Given the description of an element on the screen output the (x, y) to click on. 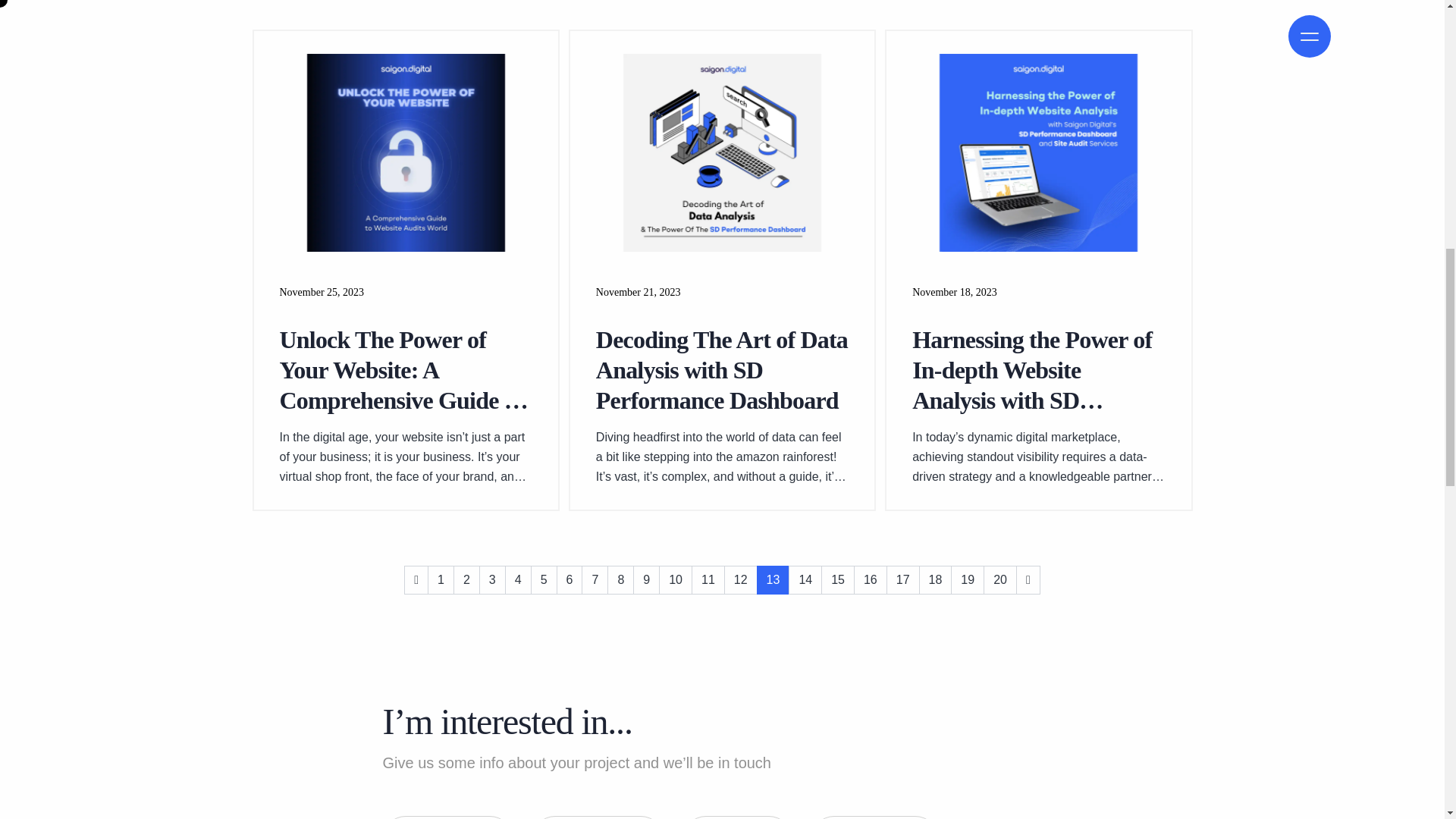
10 (676, 579)
7 (594, 579)
6 (569, 579)
1 (441, 579)
4 (518, 579)
8 (620, 579)
15 (837, 579)
13 (773, 579)
2 (466, 579)
12 (740, 579)
14 (805, 579)
9 (646, 579)
11 (708, 579)
